Given the description of an element on the screen output the (x, y) to click on. 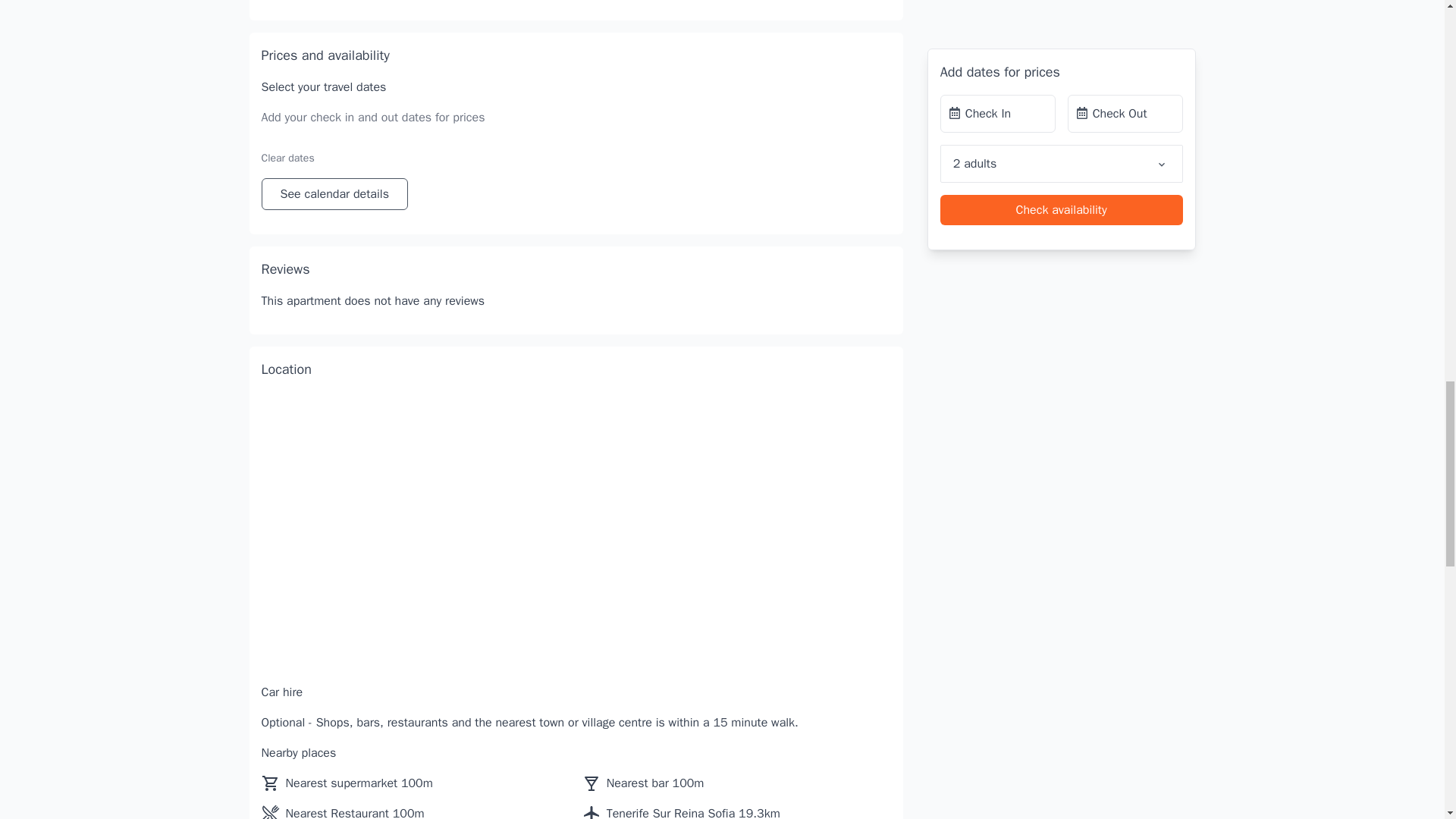
Clear dates (287, 158)
